Given the description of an element on the screen output the (x, y) to click on. 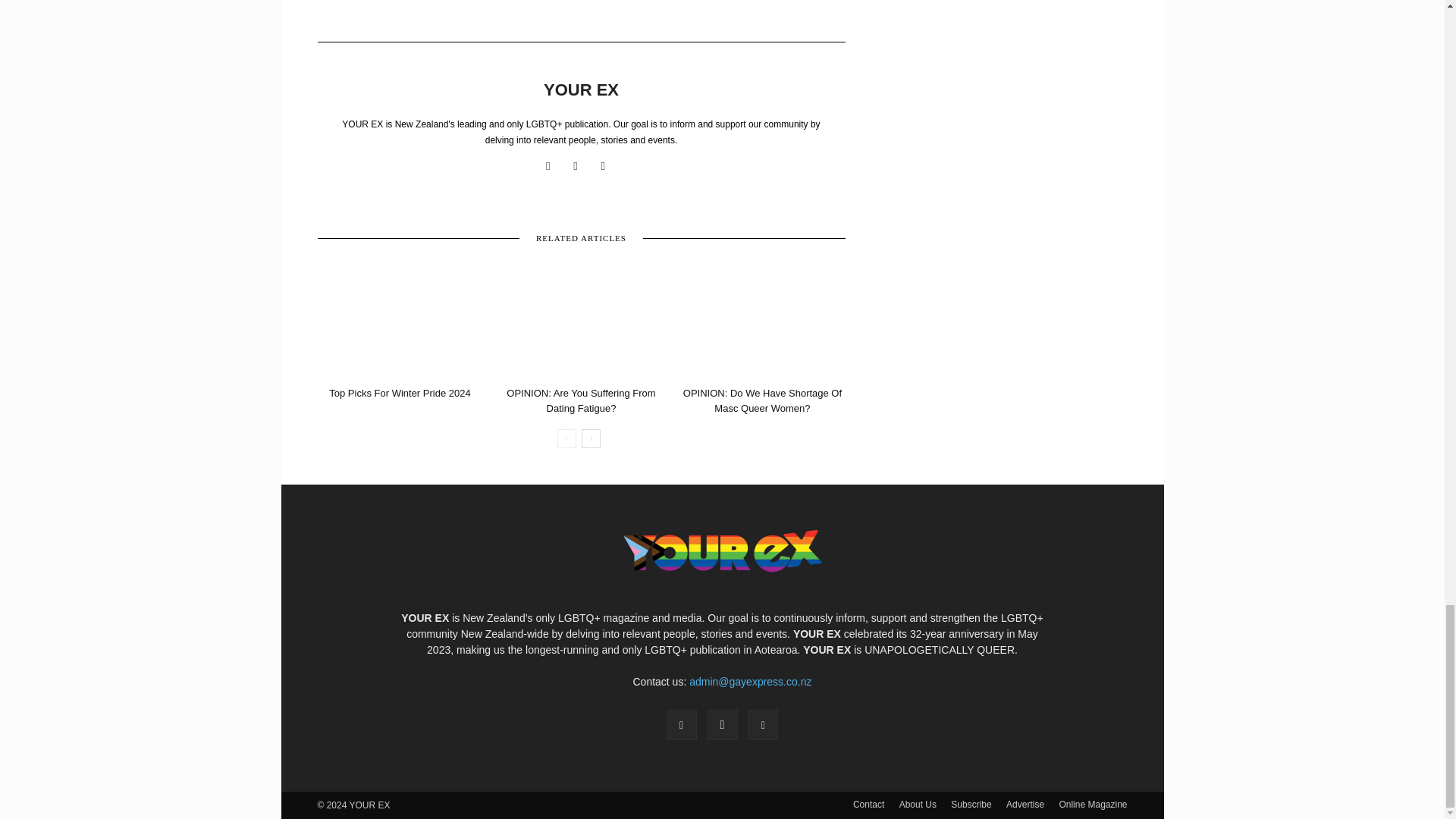
Instagram (581, 166)
Facebook (553, 166)
Twitter (608, 166)
